Given the description of an element on the screen output the (x, y) to click on. 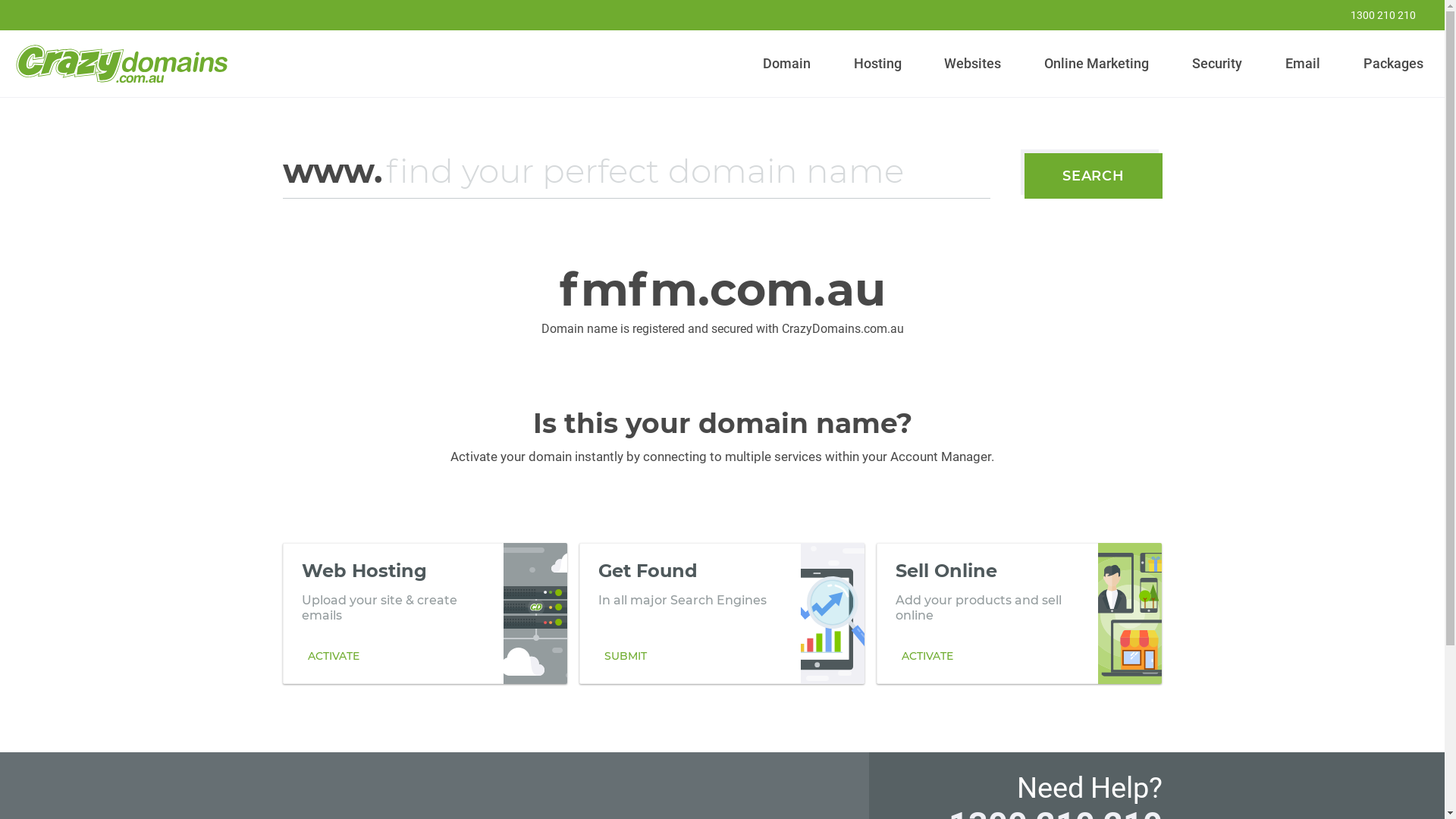
Web Hosting
Upload your site & create emails
ACTIVATE Element type: text (424, 613)
Websites Element type: text (972, 63)
Domain Element type: text (786, 63)
SEARCH Element type: text (1092, 175)
1300 210 210 Element type: text (1373, 15)
Hosting Element type: text (877, 63)
Security Element type: text (1217, 63)
Get Found
In all major Search Engines
SUBMIT Element type: text (721, 613)
Packages Element type: text (1392, 63)
Sell Online
Add your products and sell online
ACTIVATE Element type: text (1018, 613)
Online Marketing Element type: text (1096, 63)
Email Element type: text (1302, 63)
